Given the description of an element on the screen output the (x, y) to click on. 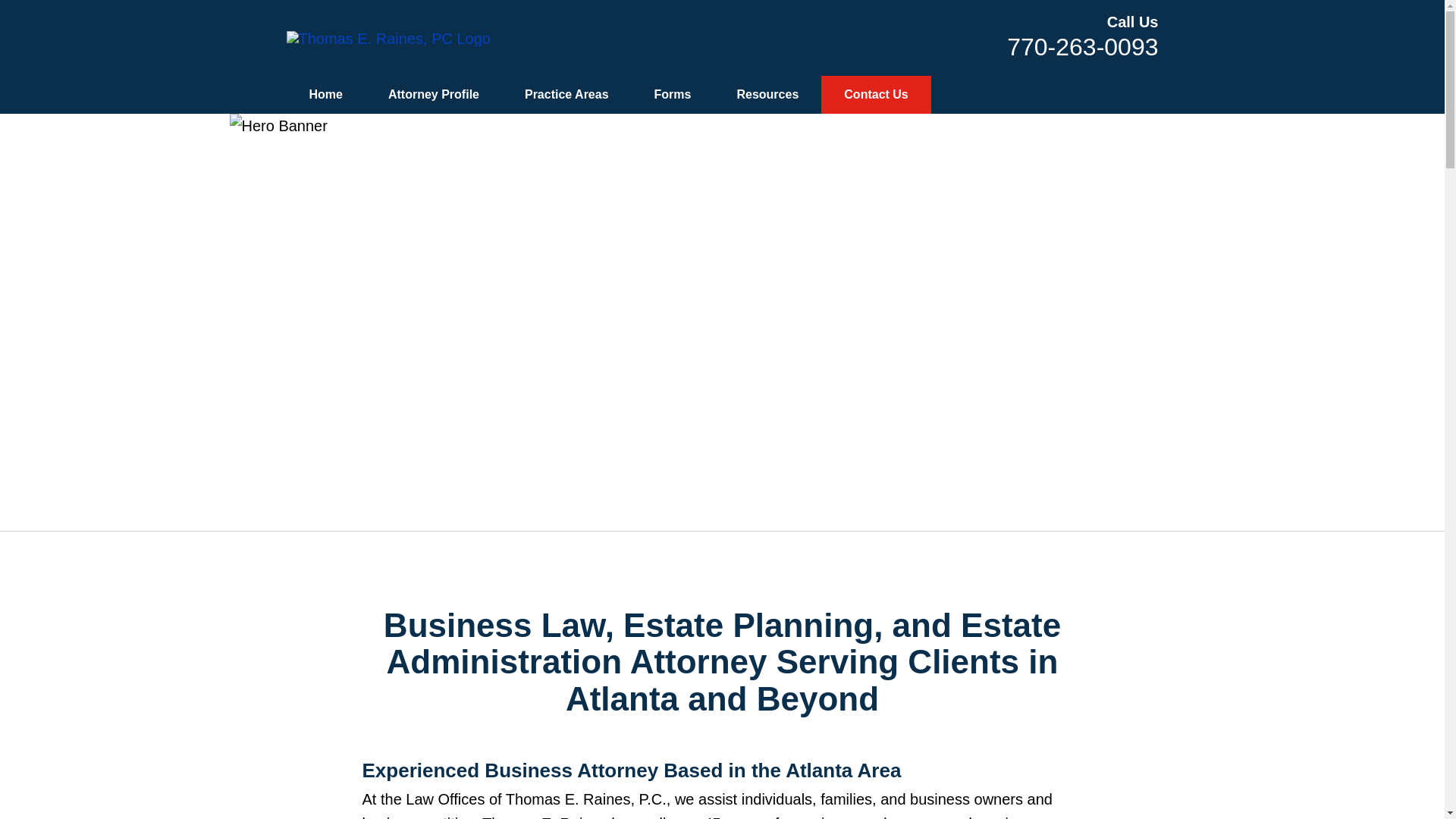
Home (325, 94)
Practice Areas (566, 94)
Resources (767, 94)
Attorney Profile (433, 94)
Contact Us (875, 94)
770-263-0093 (1082, 46)
Forms (672, 94)
